Given the description of an element on the screen output the (x, y) to click on. 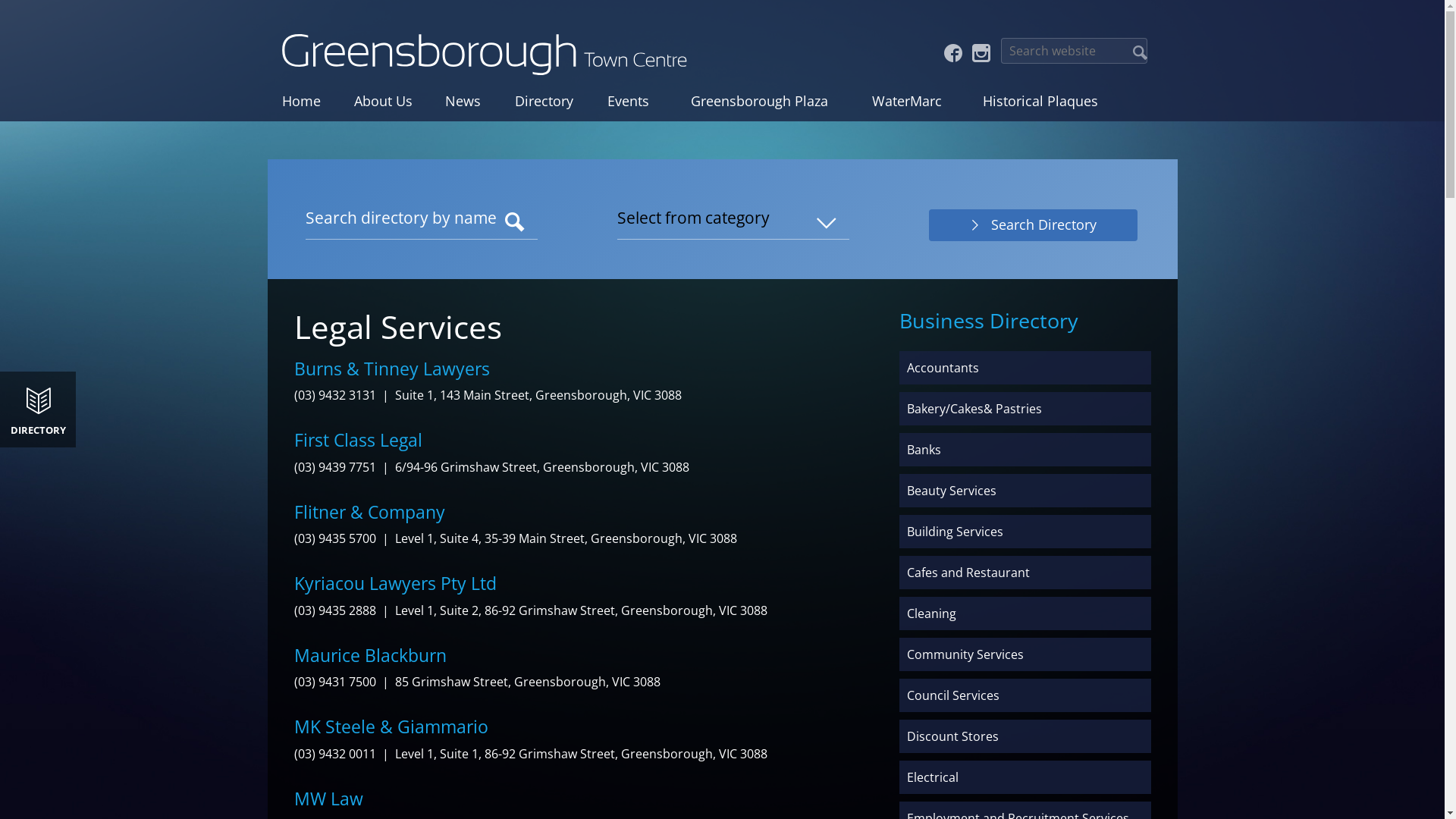
Electrical Element type: text (1025, 776)
Search Directory Element type: text (1032, 225)
Directory Element type: text (543, 100)
Kyriacou Lawyers Pty Ltd Element type: text (395, 583)
Greensborough Plaza Element type: text (758, 100)
WaterMarc Element type: text (907, 100)
Bakery/Cakes& Pastries Element type: text (1025, 408)
Burns & Tinney Lawyers Element type: text (391, 368)
Beauty Services Element type: text (1025, 490)
News Element type: text (462, 100)
Cafes and Restaurant Element type: text (1025, 572)
Discount Stores Element type: text (1025, 736)
About Us Element type: text (382, 100)
MK Steele & Giammario Element type: text (391, 726)
Community Services Element type: text (1025, 654)
Accountants Element type: text (1025, 367)
Maurice Blackburn Element type: text (370, 655)
Building Services Element type: text (1025, 531)
Flitner & Company Element type: text (369, 511)
MW Law Element type: text (328, 798)
Banks Element type: text (1025, 449)
Events Element type: text (627, 100)
Cleaning Element type: text (1025, 613)
Home Element type: text (301, 100)
First Class Legal Element type: text (358, 439)
Historical Plaques Element type: text (1039, 100)
Council Services Element type: text (1025, 695)
